Given the description of an element on the screen output the (x, y) to click on. 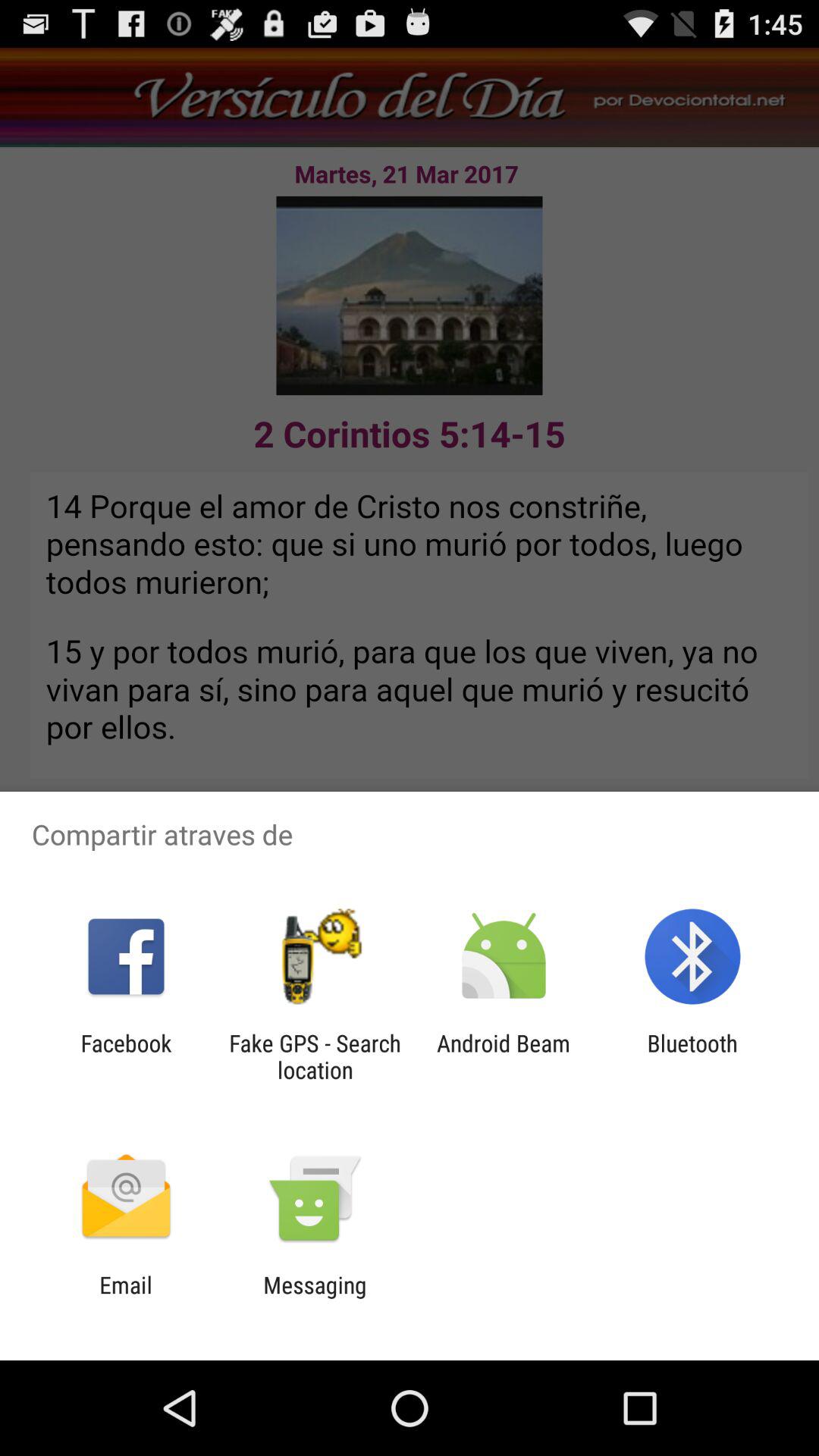
click the app to the left of messaging item (125, 1298)
